Given the description of an element on the screen output the (x, y) to click on. 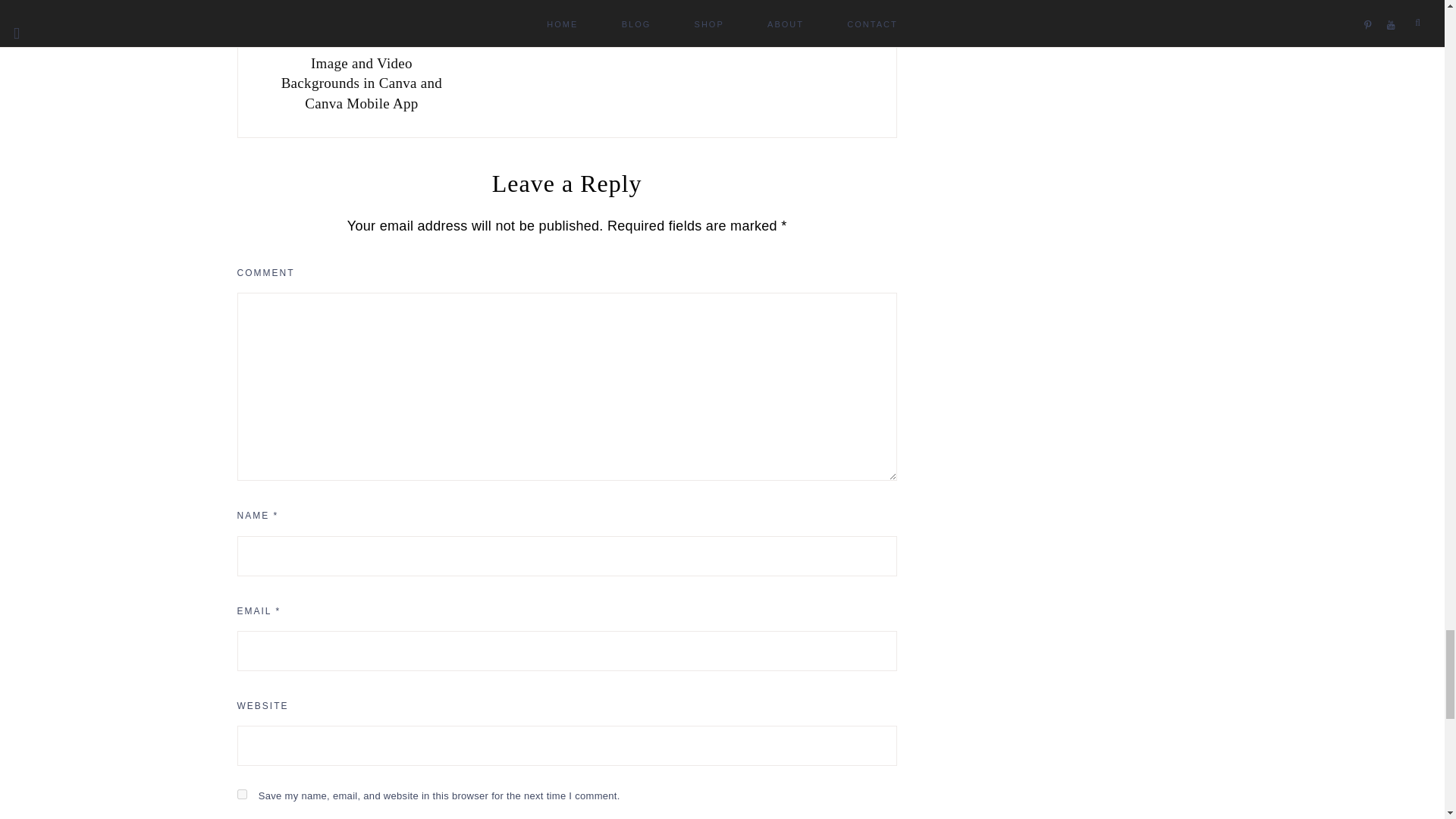
yes (240, 794)
